Given the description of an element on the screen output the (x, y) to click on. 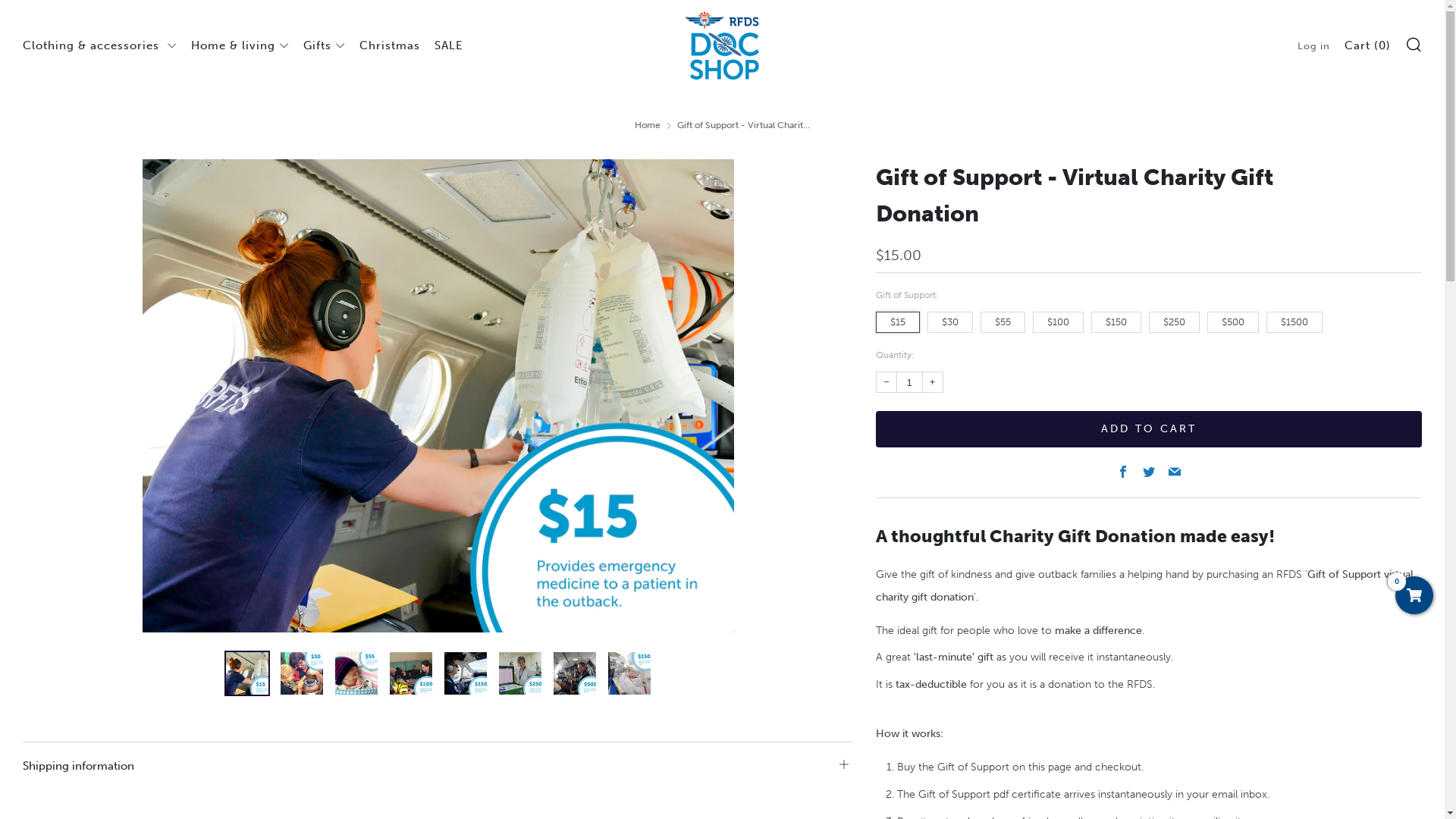
Home & living Element type: text (239, 45)
Search Element type: text (1413, 43)
+
Increase item quantity by one Element type: text (932, 381)
SALE Element type: text (448, 45)
ADD TO CART Element type: text (1148, 429)
Log in Element type: text (1313, 45)
Cart (0) Element type: text (1367, 45)
Twitter Element type: text (1148, 472)
Shipping information
Open tab Element type: text (437, 758)
Email Element type: text (1174, 472)
Home Element type: text (647, 124)
Gifts Element type: text (324, 45)
Facebook Element type: text (1123, 472)
Christmas Element type: text (389, 45)
Clothing & accessories Element type: text (99, 45)
